Given the description of an element on the screen output the (x, y) to click on. 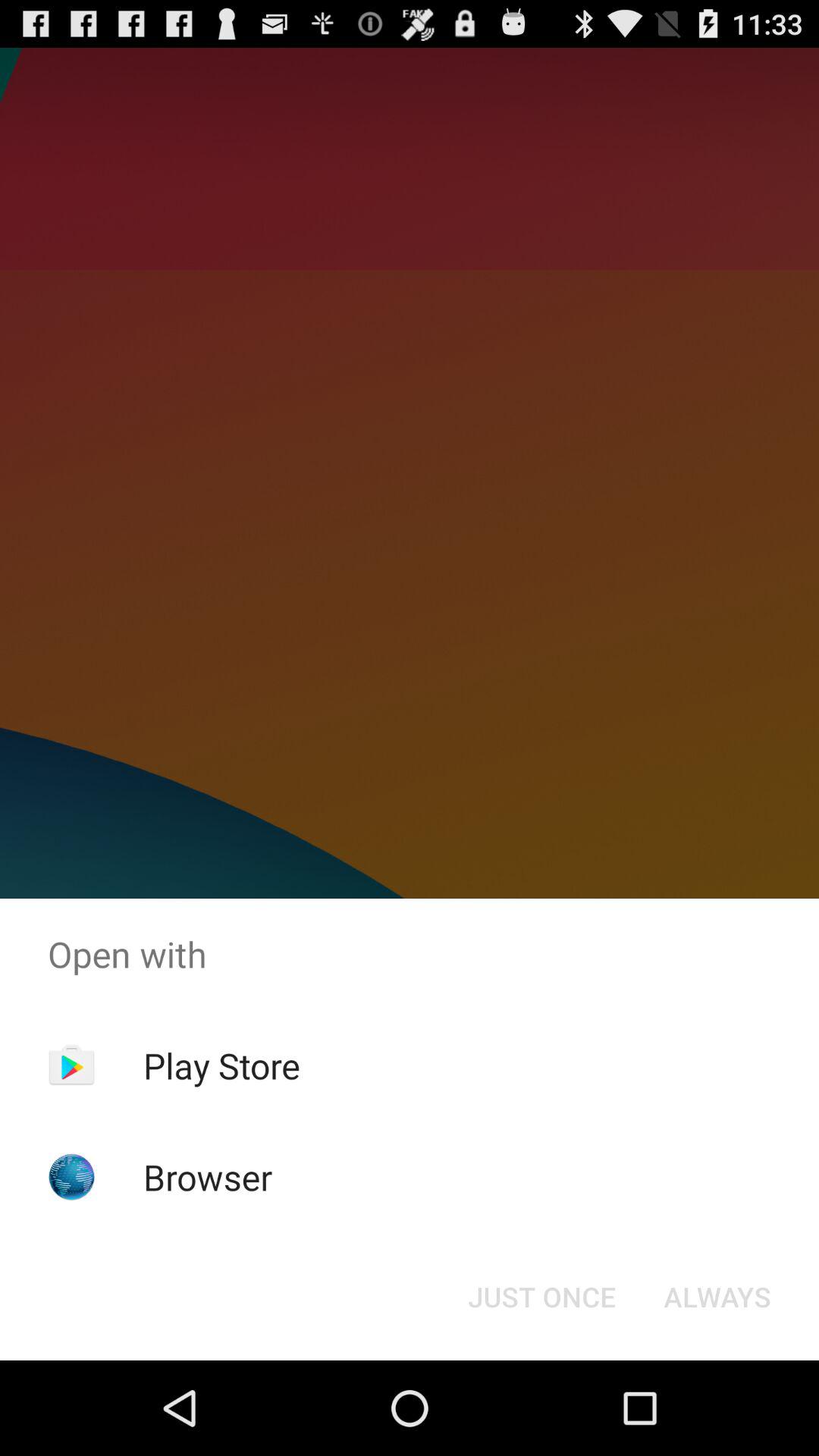
scroll to the always item (717, 1296)
